Given the description of an element on the screen output the (x, y) to click on. 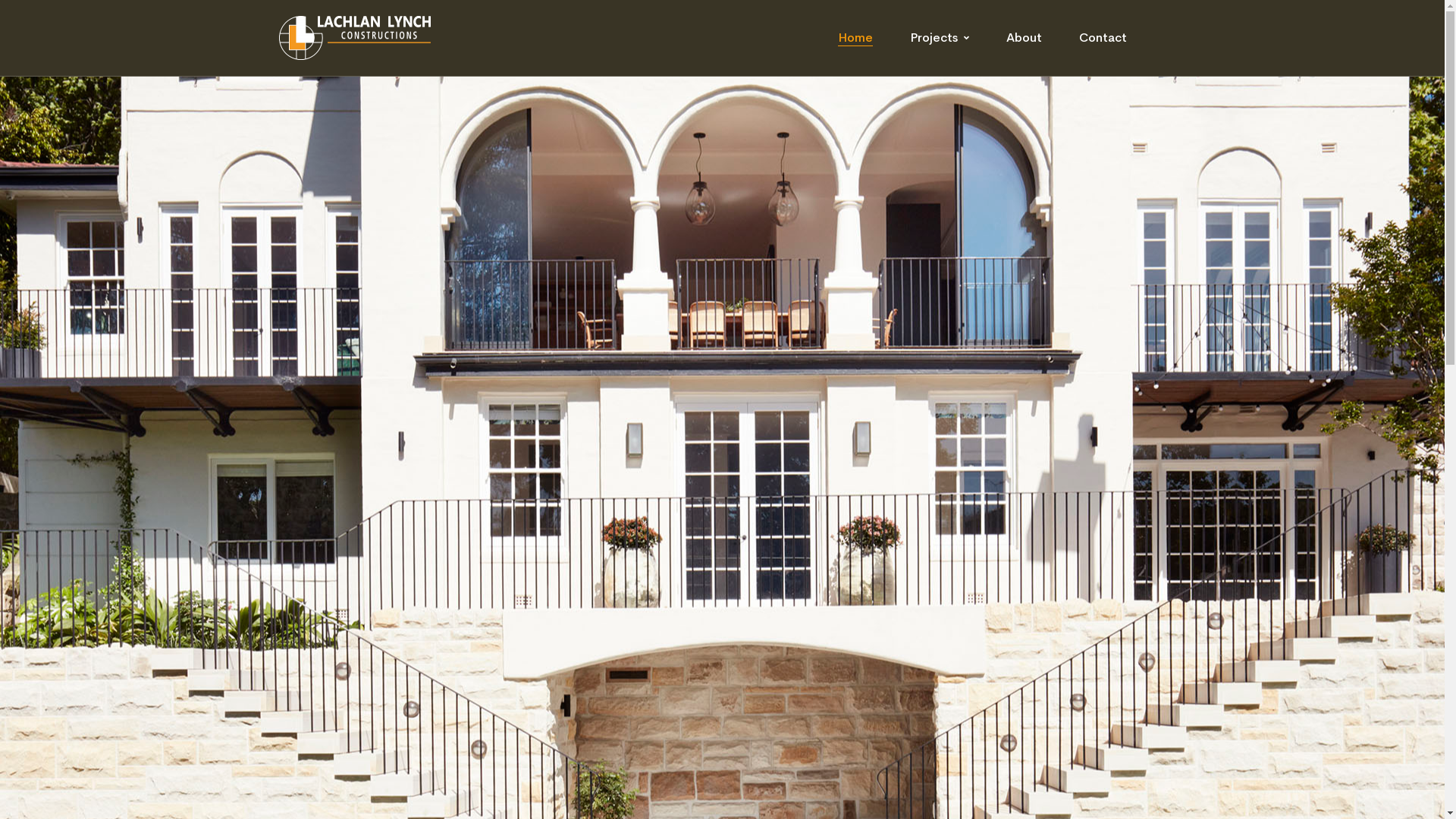
About Element type: text (1022, 37)
Contact Element type: text (1101, 37)
Projects Element type: text (939, 37)
Home Element type: text (854, 37)
